Given the description of an element on the screen output the (x, y) to click on. 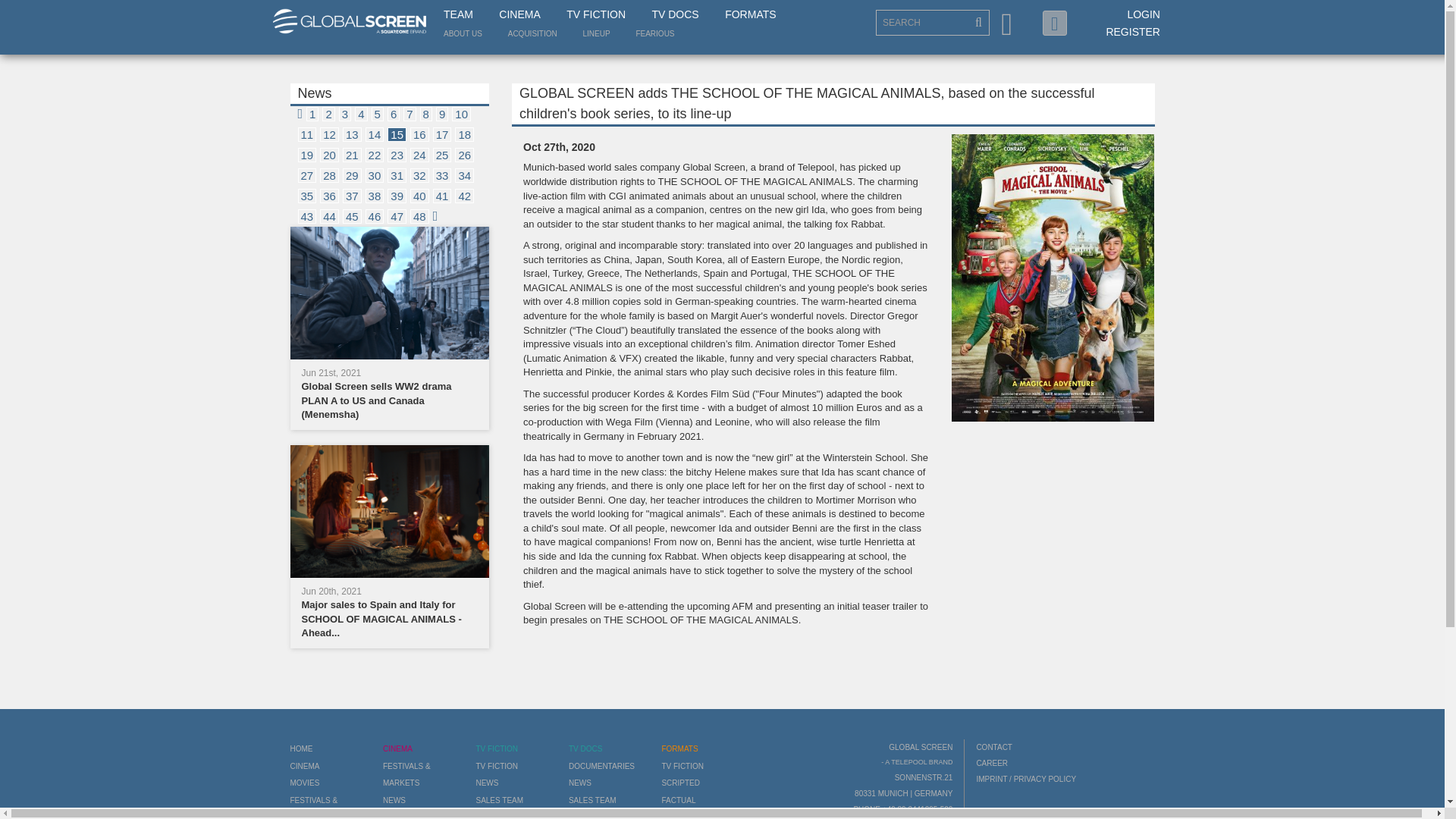
TV FICTION (596, 14)
CINEMA (519, 14)
FEARIOUS (654, 33)
REGISTER (1132, 31)
ABOUT US (462, 33)
LOGIN (1143, 14)
ACQUISITION (532, 33)
TEAM (458, 14)
LINEUP (596, 33)
FORMATS (750, 14)
TV DOCS (674, 14)
